Given the description of an element on the screen output the (x, y) to click on. 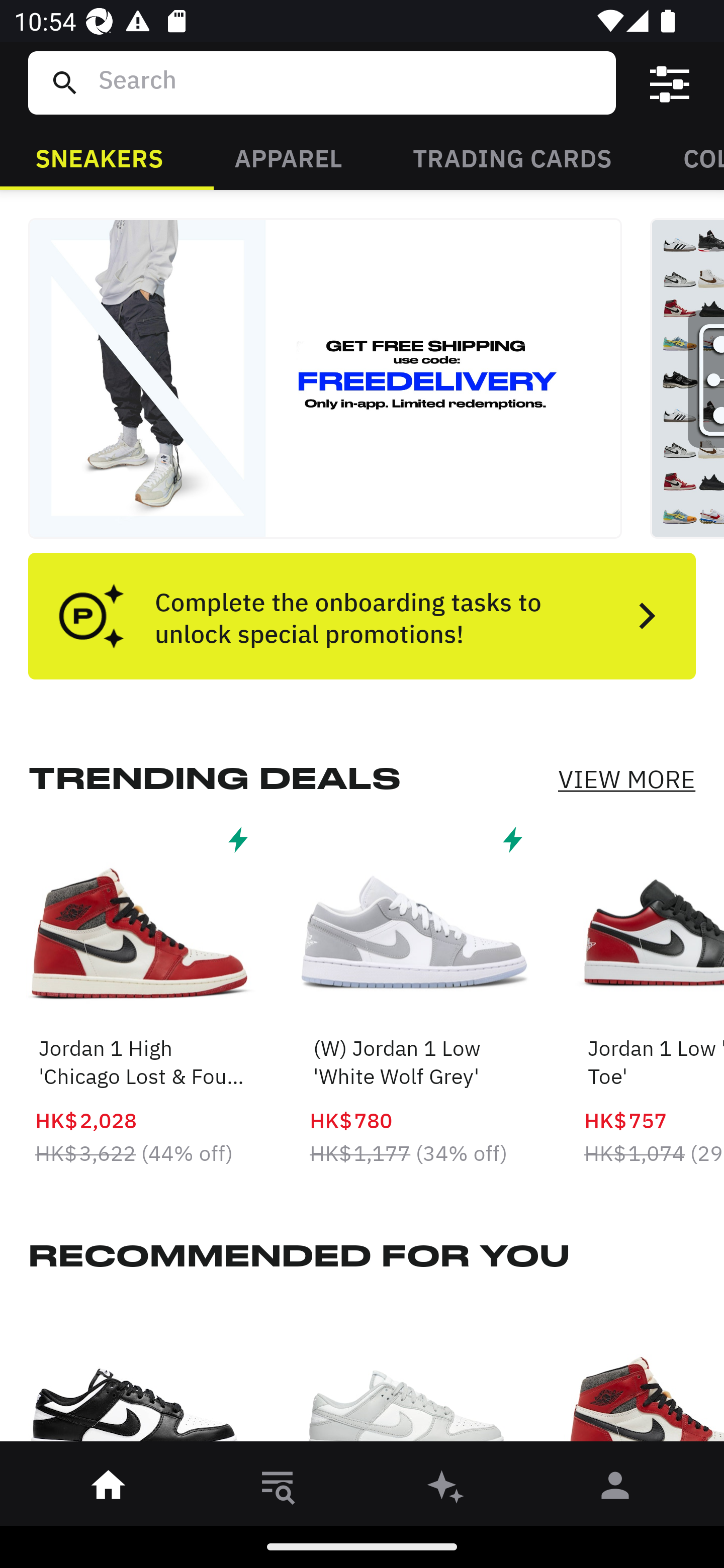
Search (349, 82)
 (669, 82)
SNEAKERS (99, 156)
APPAREL (287, 156)
TRADING CARDS (512, 156)
VIEW MORE (626, 779)
󰋜 (108, 1488)
󱎸 (277, 1488)
󰫢 (446, 1488)
󰀄 (615, 1488)
